Given the description of an element on the screen output the (x, y) to click on. 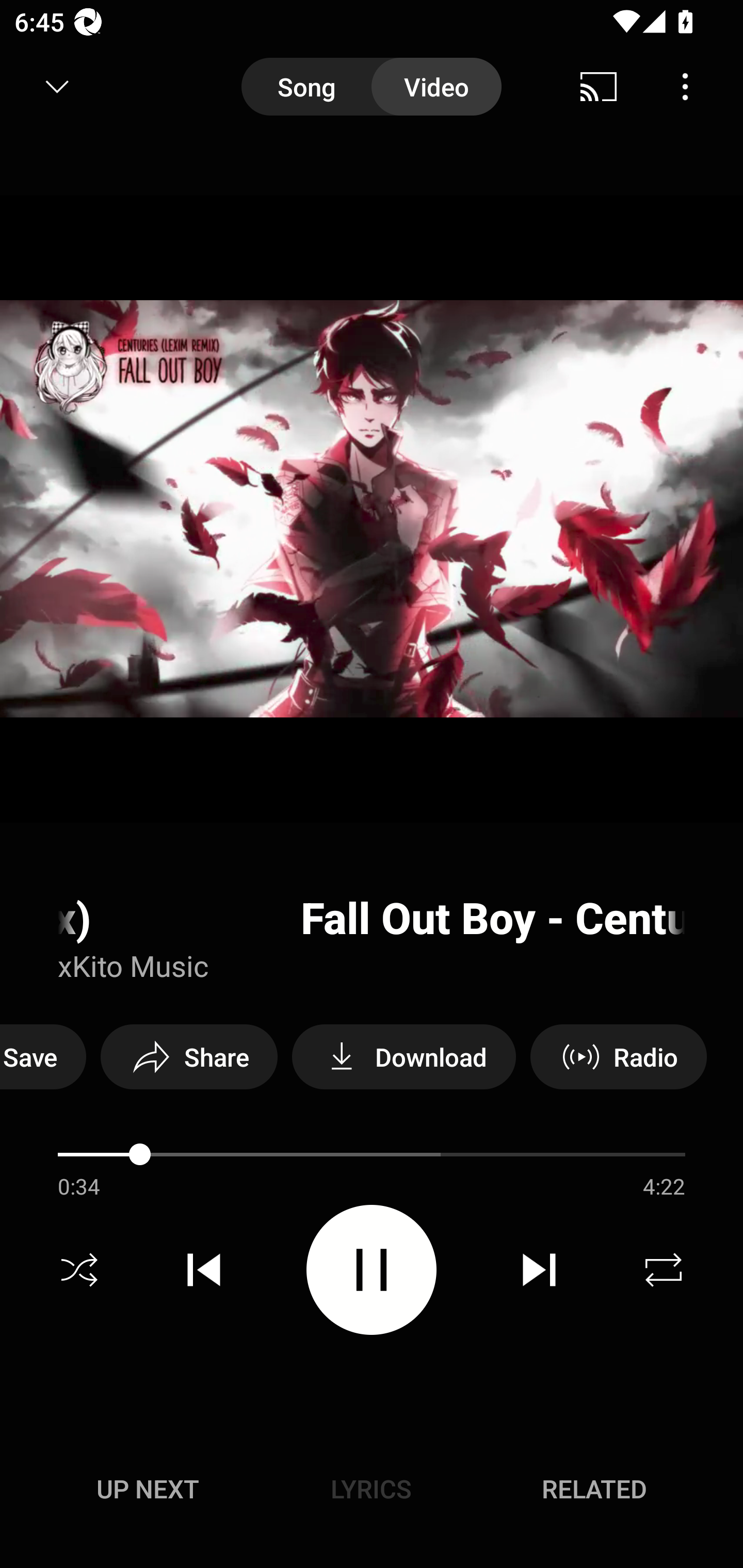
Back (50, 86)
Cast. Disconnected (598, 86)
Menu (684, 86)
Save Save to playlist (43, 1056)
Share (188, 1056)
Download (403, 1056)
Radio (618, 1056)
Pause video (371, 1269)
Shuffle off (79, 1269)
Previous track (203, 1269)
Next track (538, 1269)
Repeat off (663, 1269)
Up next UP NEXT Lyrics LYRICS Related RELATED (371, 1491)
Lyrics LYRICS (370, 1488)
Related RELATED (594, 1488)
